Given the description of an element on the screen output the (x, y) to click on. 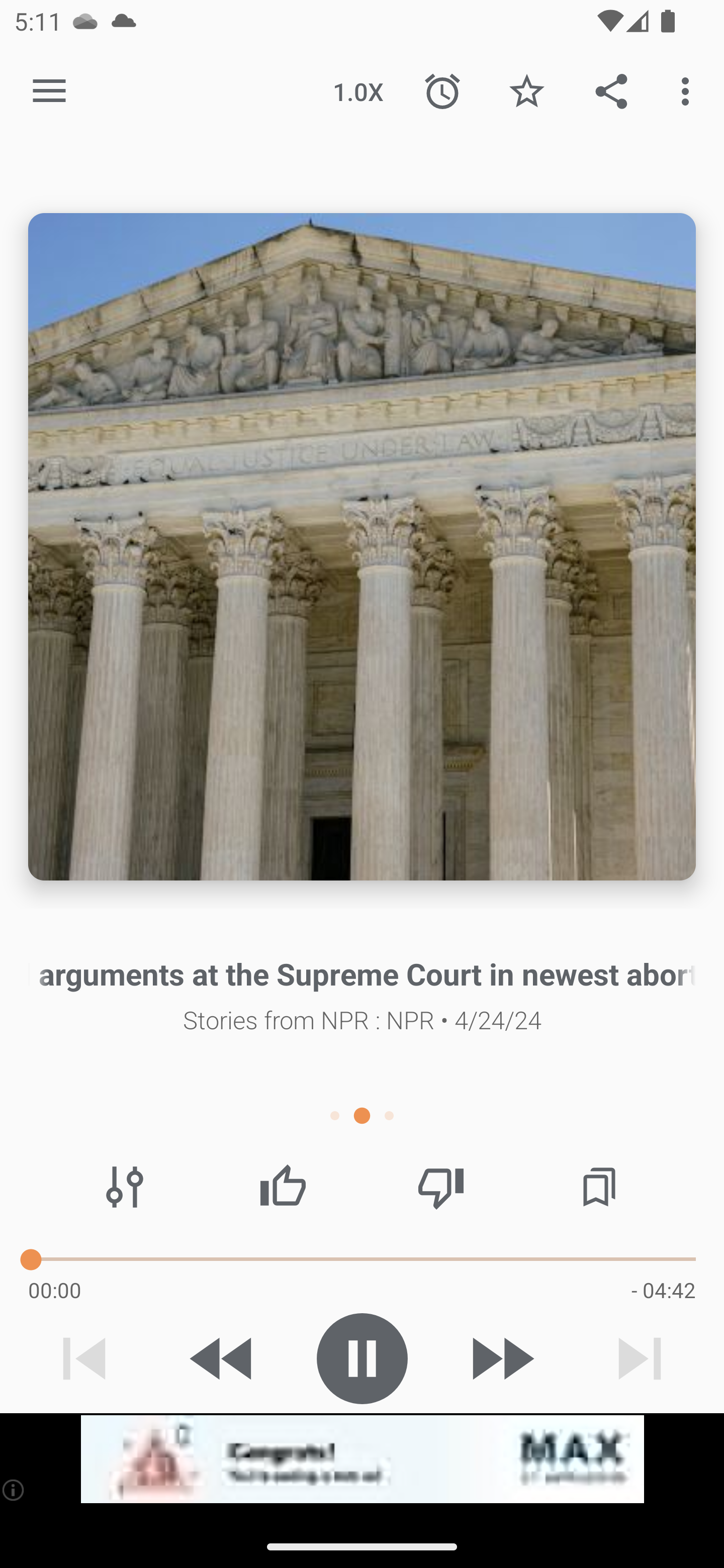
Open navigation sidebar (49, 91)
1.0X (357, 90)
Sleep Timer (442, 90)
Favorite (526, 90)
Share (611, 90)
More options (688, 90)
Episode description (361, 547)
Audio effects (124, 1186)
Thumbs up (283, 1186)
Thumbs down (440, 1186)
Chapters / Bookmarks (598, 1186)
- 04:42 (663, 1289)
Previous track (84, 1358)
Skip 15s backward (222, 1358)
Play / Pause (362, 1358)
Skip 30s forward (500, 1358)
Next track (639, 1358)
app-monetization (362, 1459)
(i) (14, 1489)
